Given the description of an element on the screen output the (x, y) to click on. 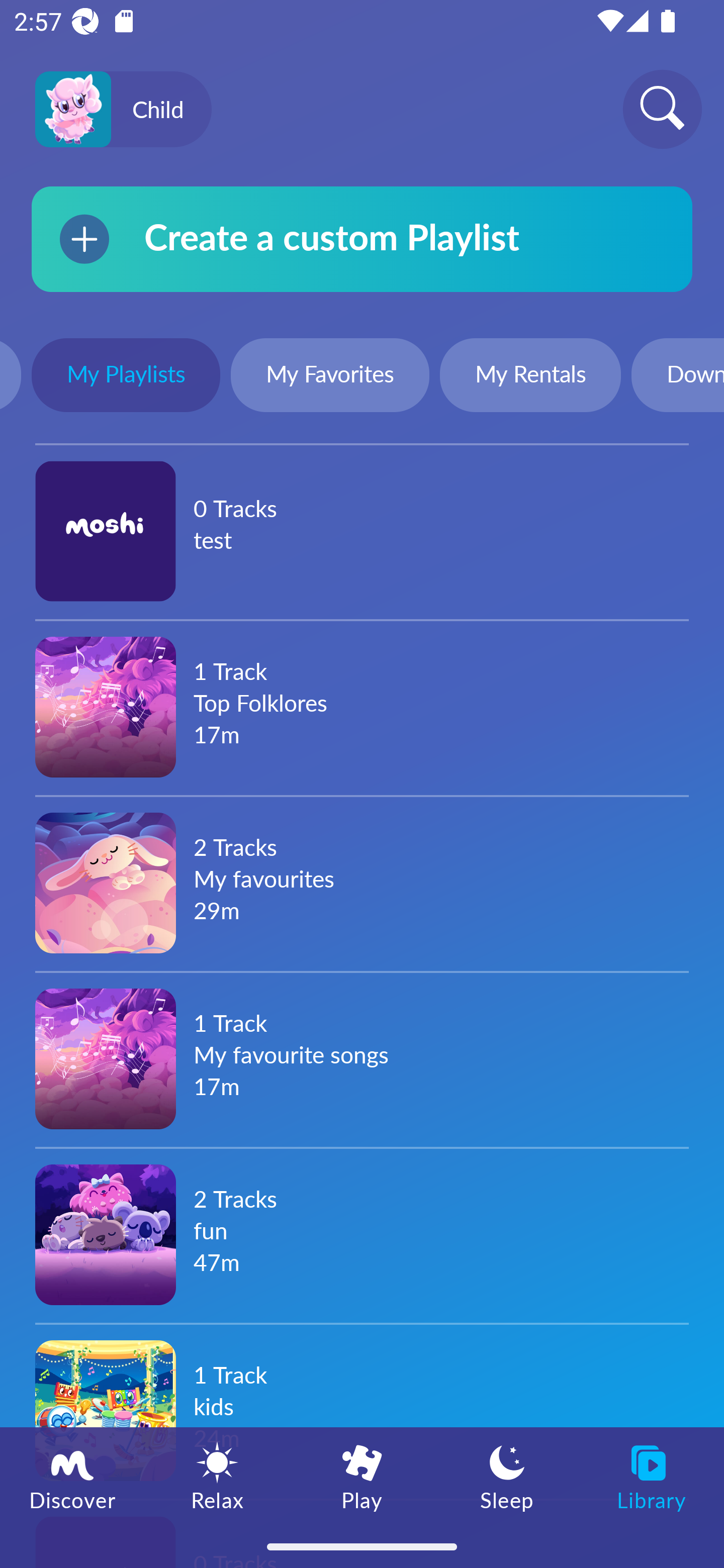
Profile icon Child (123, 109)
Create a custom Playlist (361, 238)
My Playlists (125, 377)
My Favorites (329, 377)
My Rentals (530, 377)
0 Tracks test (362, 531)
1 Track Top Folklores 17m (362, 706)
2 Tracks My favourites 29m (362, 882)
1 Track My favourite songs 17m (362, 1058)
2 Tracks fun 47m (362, 1234)
Discover (72, 1475)
Relax (216, 1475)
Play (361, 1475)
Sleep (506, 1475)
0 Tracks (362, 1533)
